Given the description of an element on the screen output the (x, y) to click on. 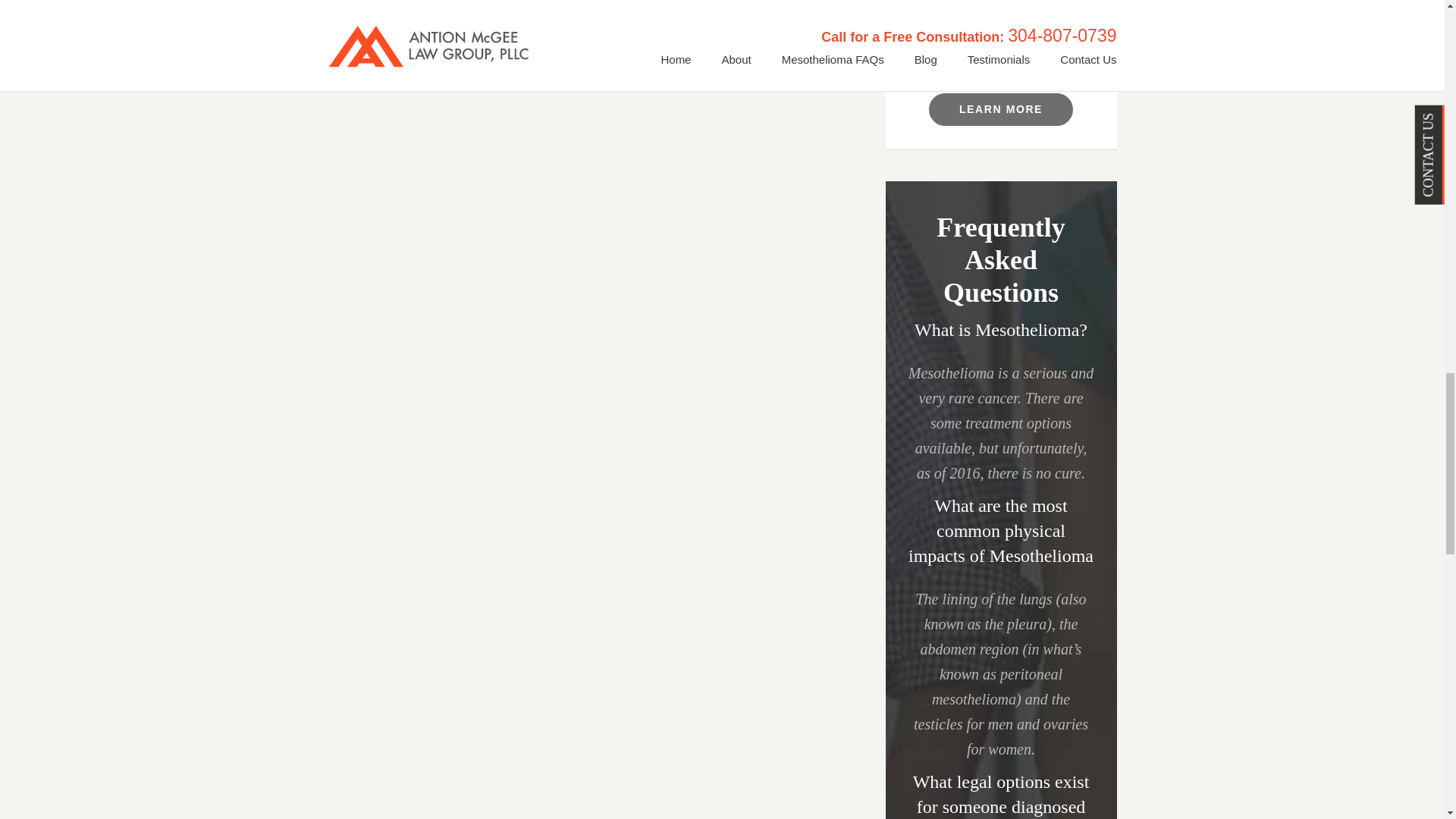
LEARN MORE (1000, 109)
